Given the description of an element on the screen output the (x, y) to click on. 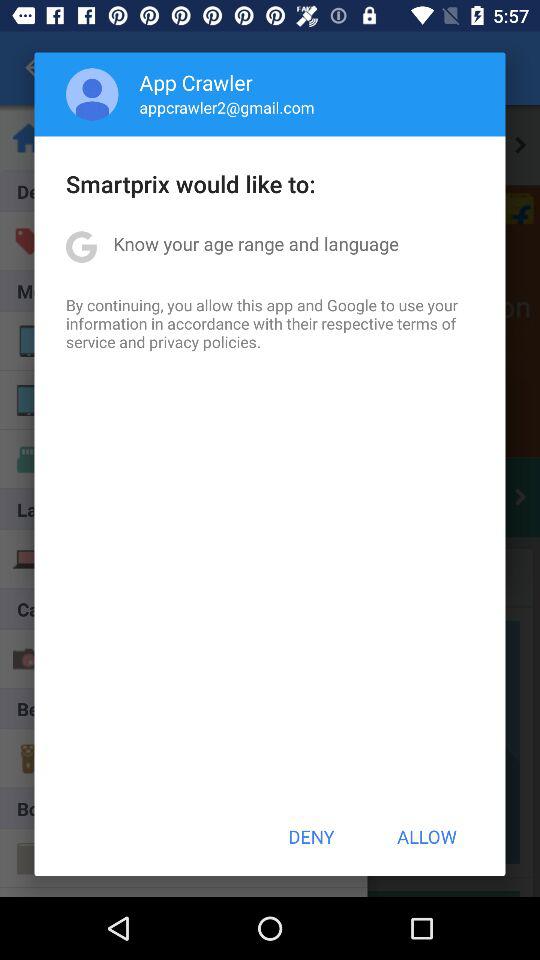
choose icon to the left of allow item (311, 836)
